Given the description of an element on the screen output the (x, y) to click on. 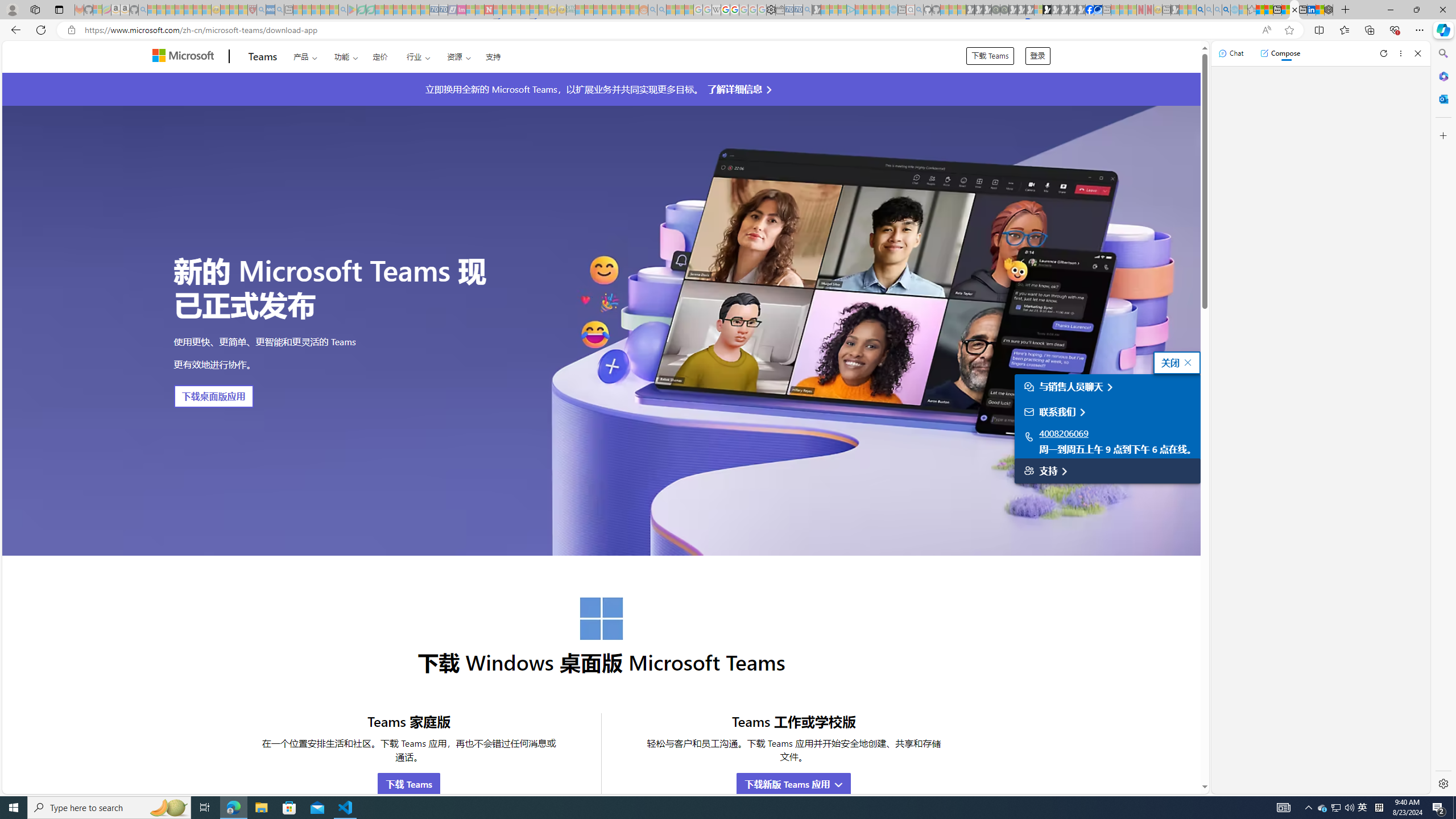
Future Focus Report 2024 - Sleeping (1004, 9)
